Given the description of an element on the screen output the (x, y) to click on. 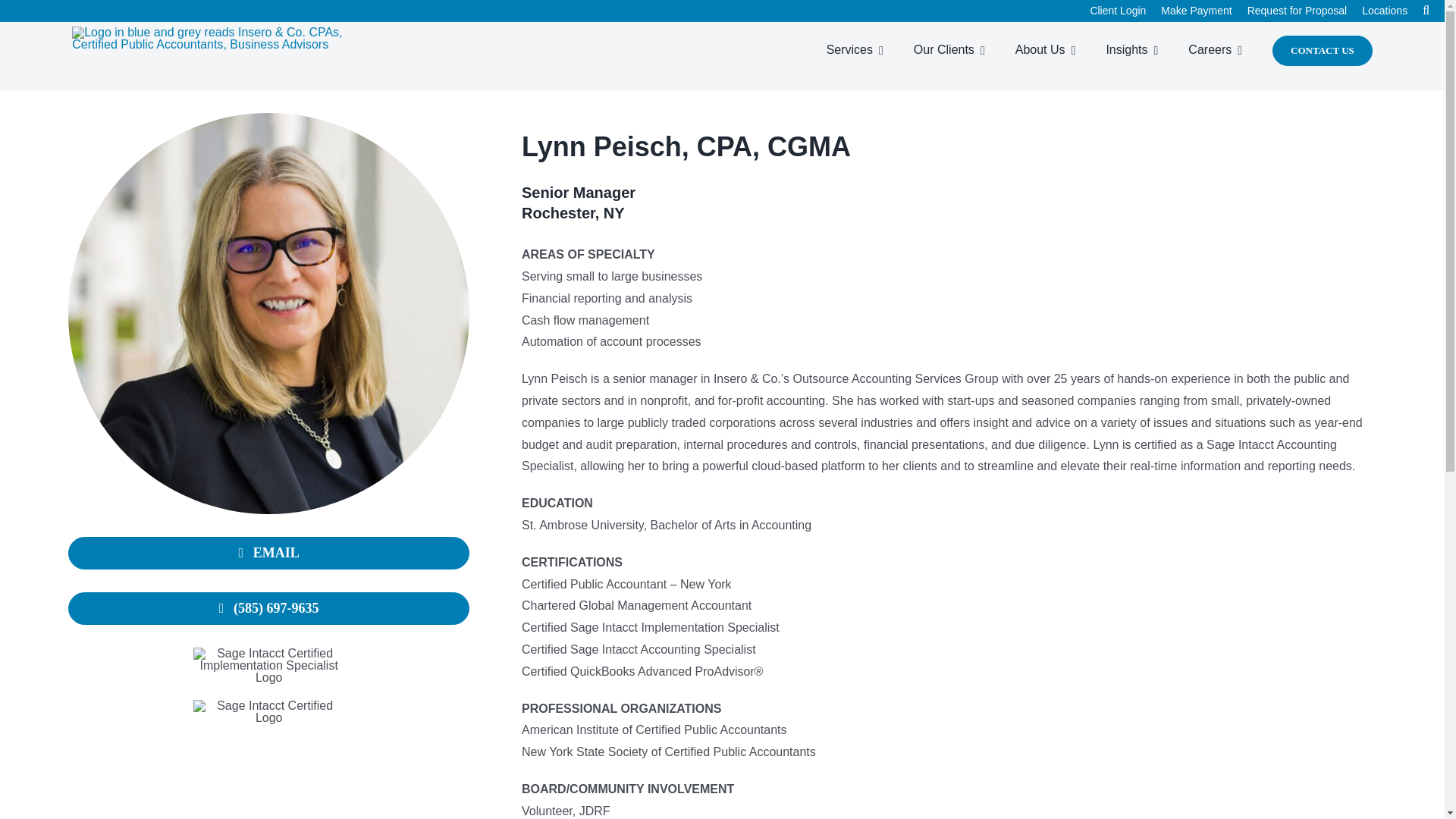
sage-intacct-logo (269, 711)
Locations (1391, 11)
Services (862, 50)
Request for Proposal (1304, 11)
sage-certified-logo (269, 665)
Client Login (1124, 11)
Make Payment (1203, 11)
